Given the description of an element on the screen output the (x, y) to click on. 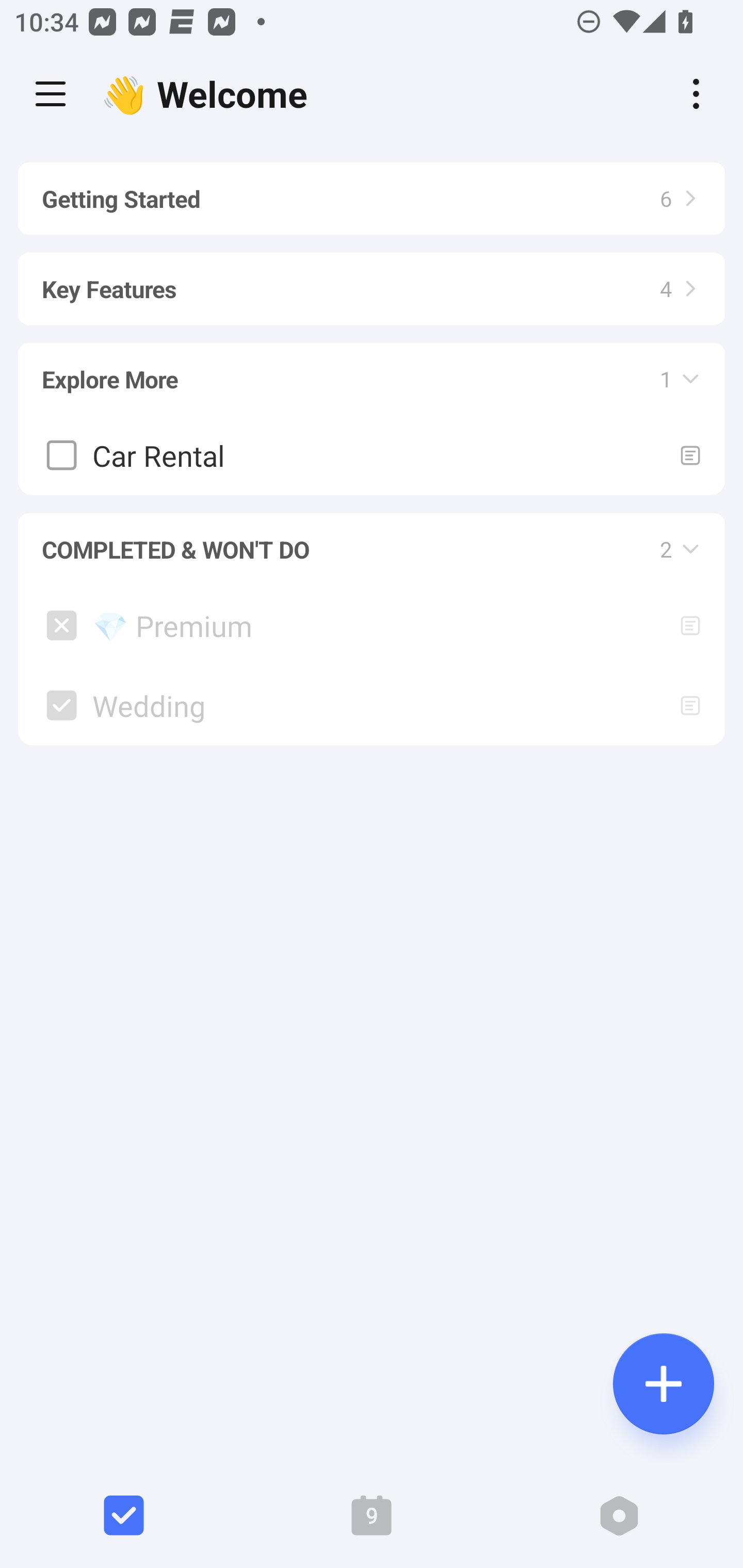
👋 Welcome (209, 93)
Getting Started 6 (371, 199)
Key Features 4 (371, 279)
Explore More 1 (371, 369)
Car Rental (371, 455)
COMPLETED & WON'T DO 2 (371, 539)
💎 Premium (371, 624)
Wedding (371, 704)
